Given the description of an element on the screen output the (x, y) to click on. 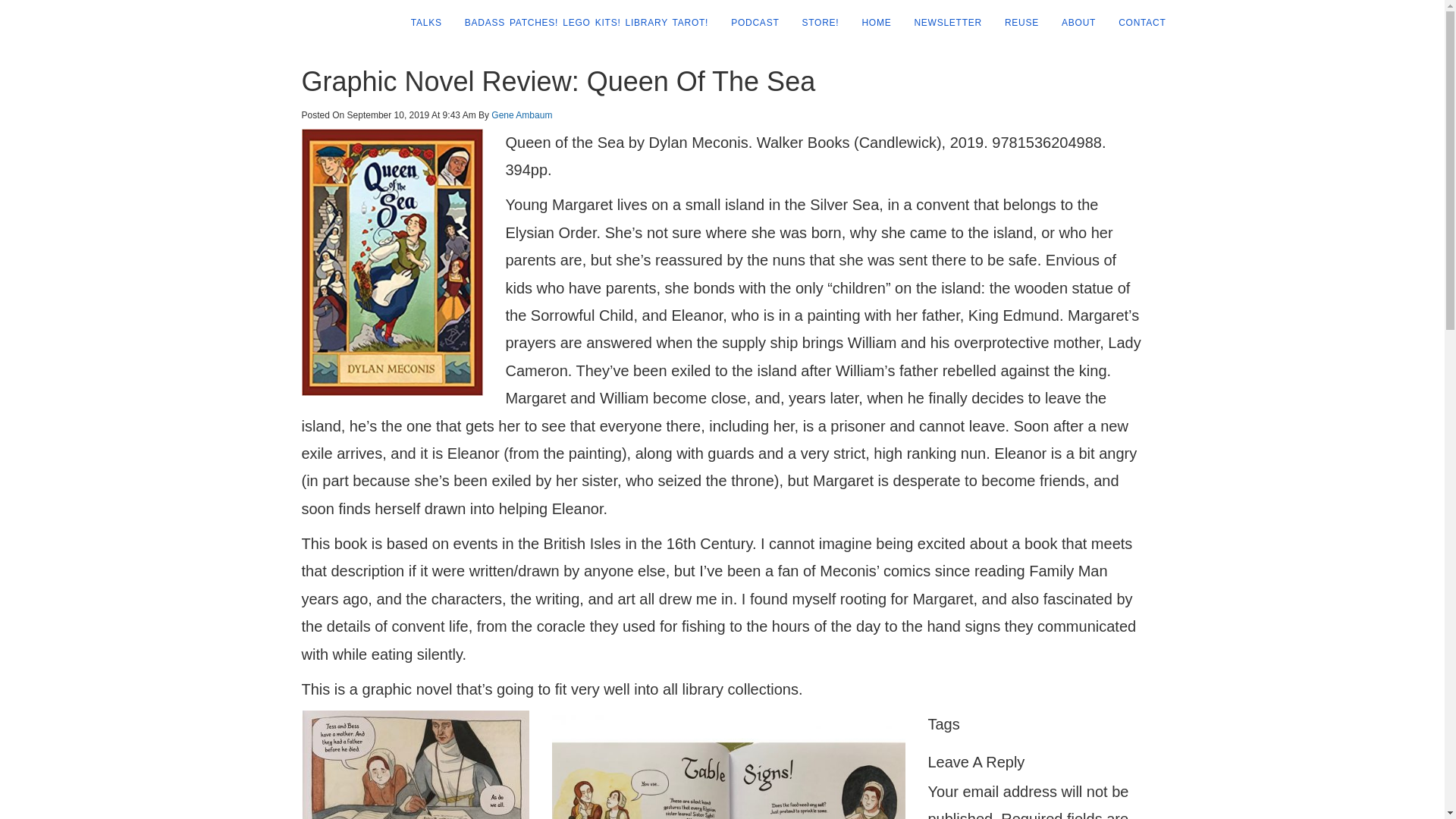
Badass patches! LEGO kits! Library Tarot! (580, 22)
Newsletter (941, 22)
NEWSLETTER (941, 22)
Reuse (1015, 22)
TALKS (420, 22)
Posts by Gene Ambaum (521, 114)
REUSE (1015, 22)
Talks (420, 22)
STORE! (814, 22)
ABOUT (1072, 22)
Home (870, 22)
CONTACT (1136, 22)
Contact (1136, 22)
PODCAST (748, 22)
Podcast (748, 22)
